Given the description of an element on the screen output the (x, y) to click on. 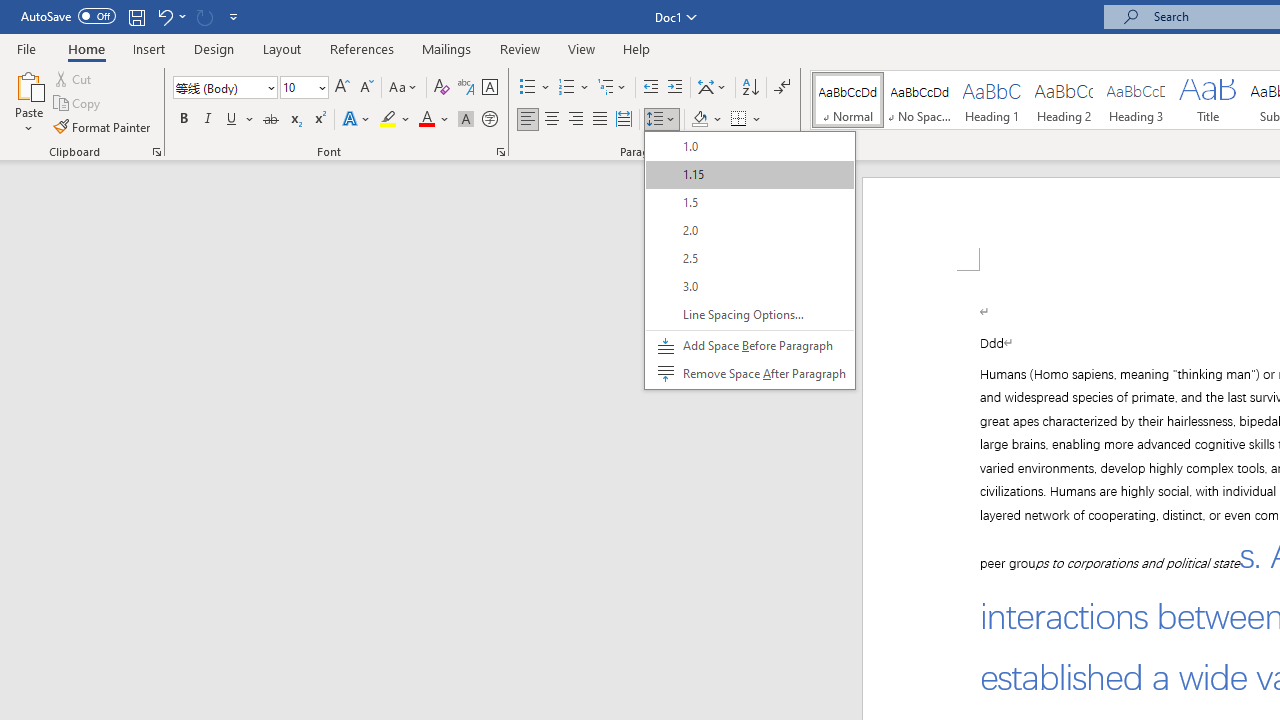
Cut (73, 78)
Office Clipboard... (156, 151)
Sort... (750, 87)
Can't Repeat (204, 15)
Line and Paragraph Spacing (661, 119)
Heading 1 (991, 100)
Character Border (489, 87)
Undo Apply Quick Style Set (170, 15)
Shading (706, 119)
Change Case (404, 87)
Show/Hide Editing Marks (781, 87)
